Given the description of an element on the screen output the (x, y) to click on. 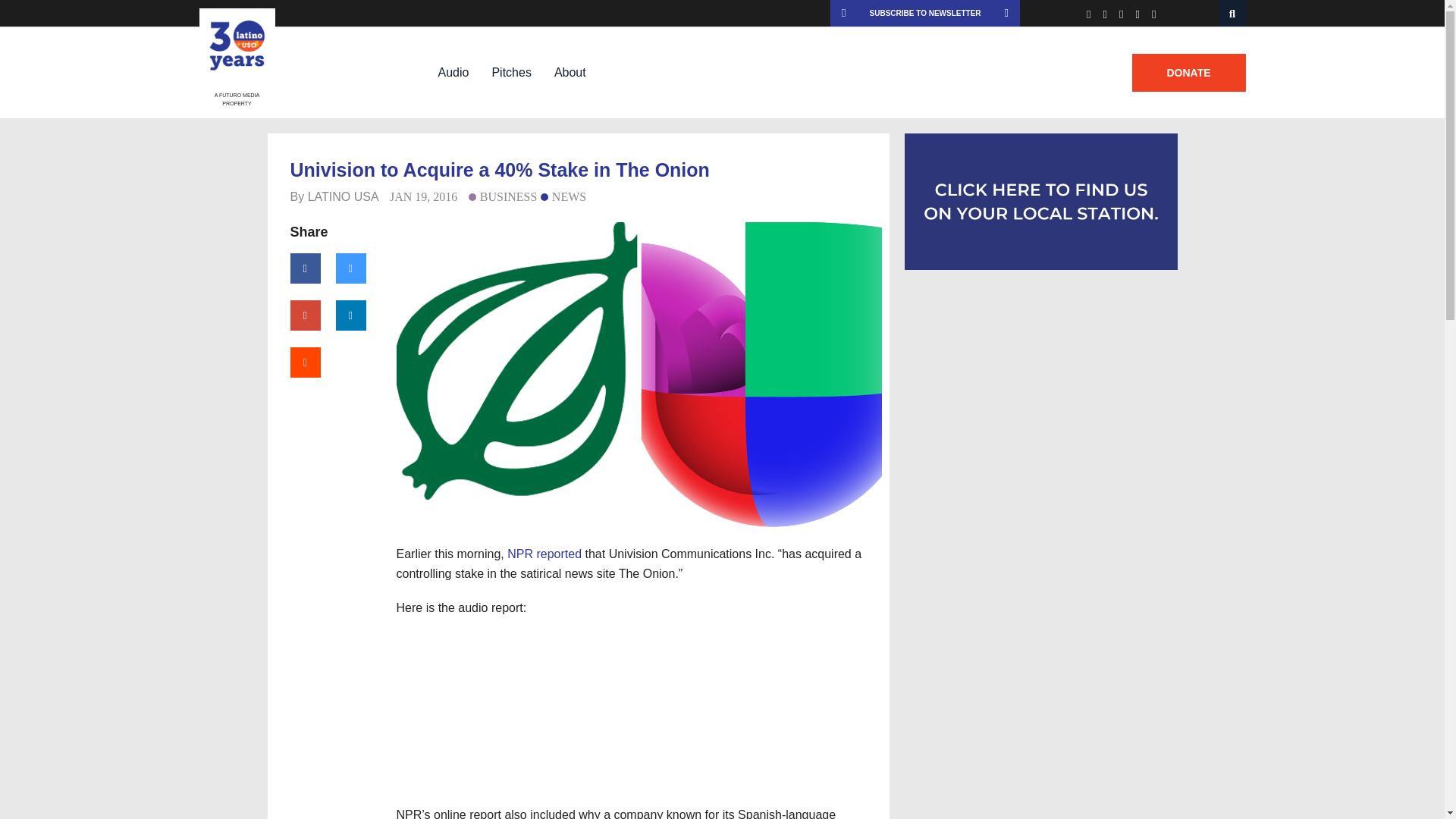
Search (1233, 13)
Subscribe to newsletter (924, 13)
Search (1233, 13)
NPR reported (543, 553)
DONATE (1187, 72)
NEWS (563, 196)
Search (1233, 13)
LATINO USA (342, 196)
NPR embedded audio player (638, 708)
BUSINESS (502, 196)
